Given the description of an element on the screen output the (x, y) to click on. 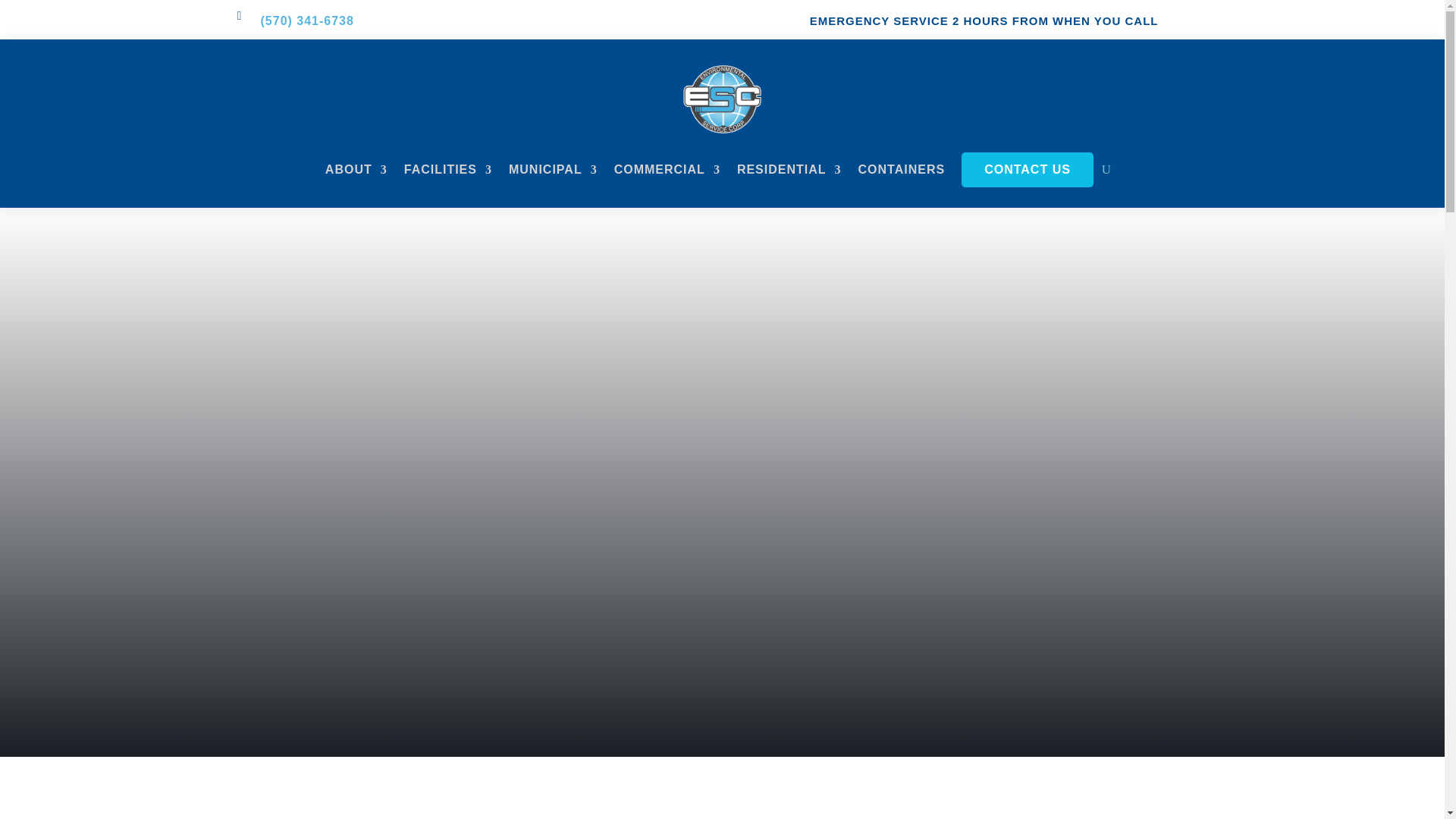
FACILITIES (448, 169)
COMMERCIAL (667, 169)
ABOUT (355, 169)
MUNICIPAL (552, 169)
